Given the description of an element on the screen output the (x, y) to click on. 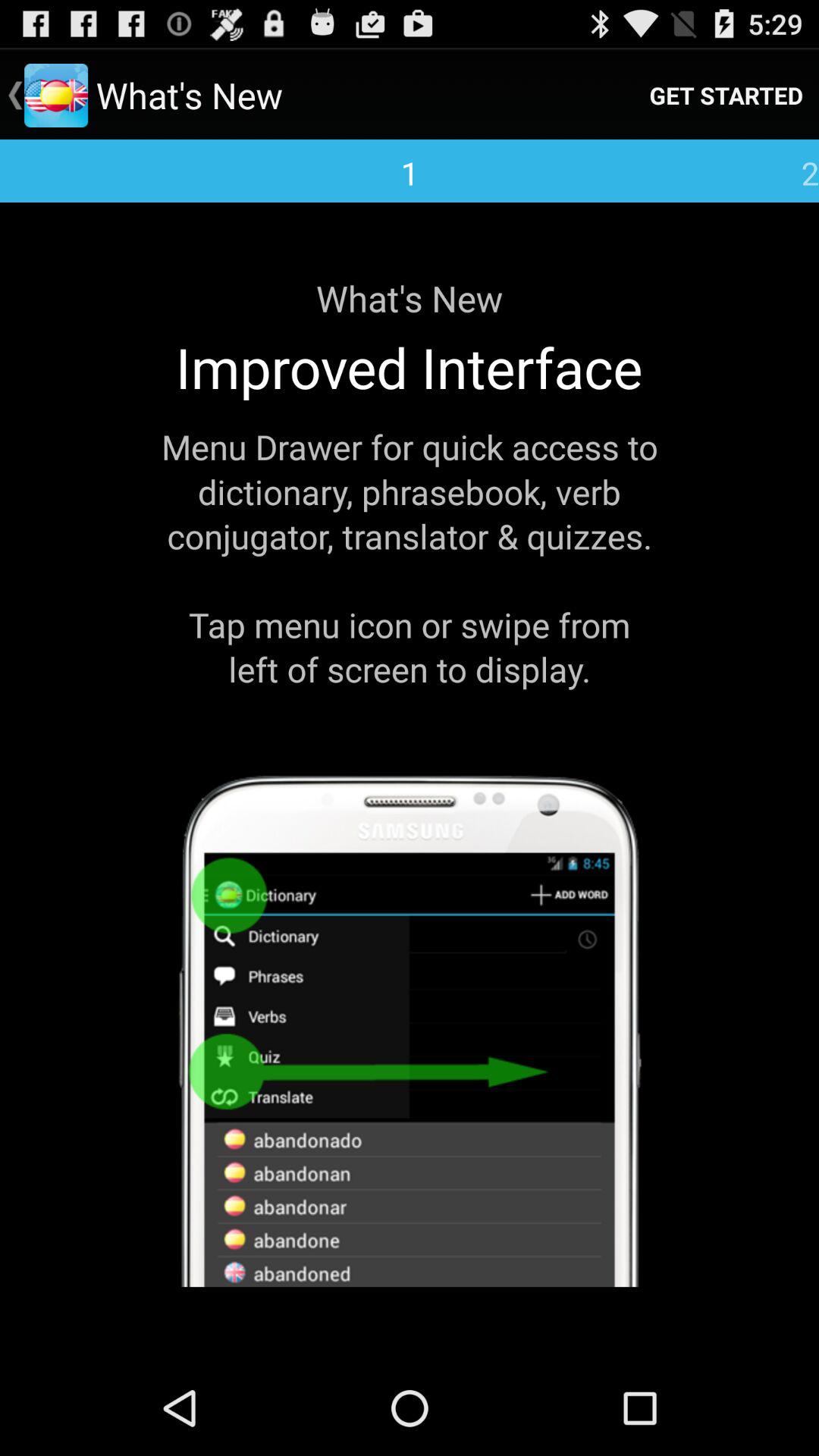
swipe to the get started icon (726, 95)
